Given the description of an element on the screen output the (x, y) to click on. 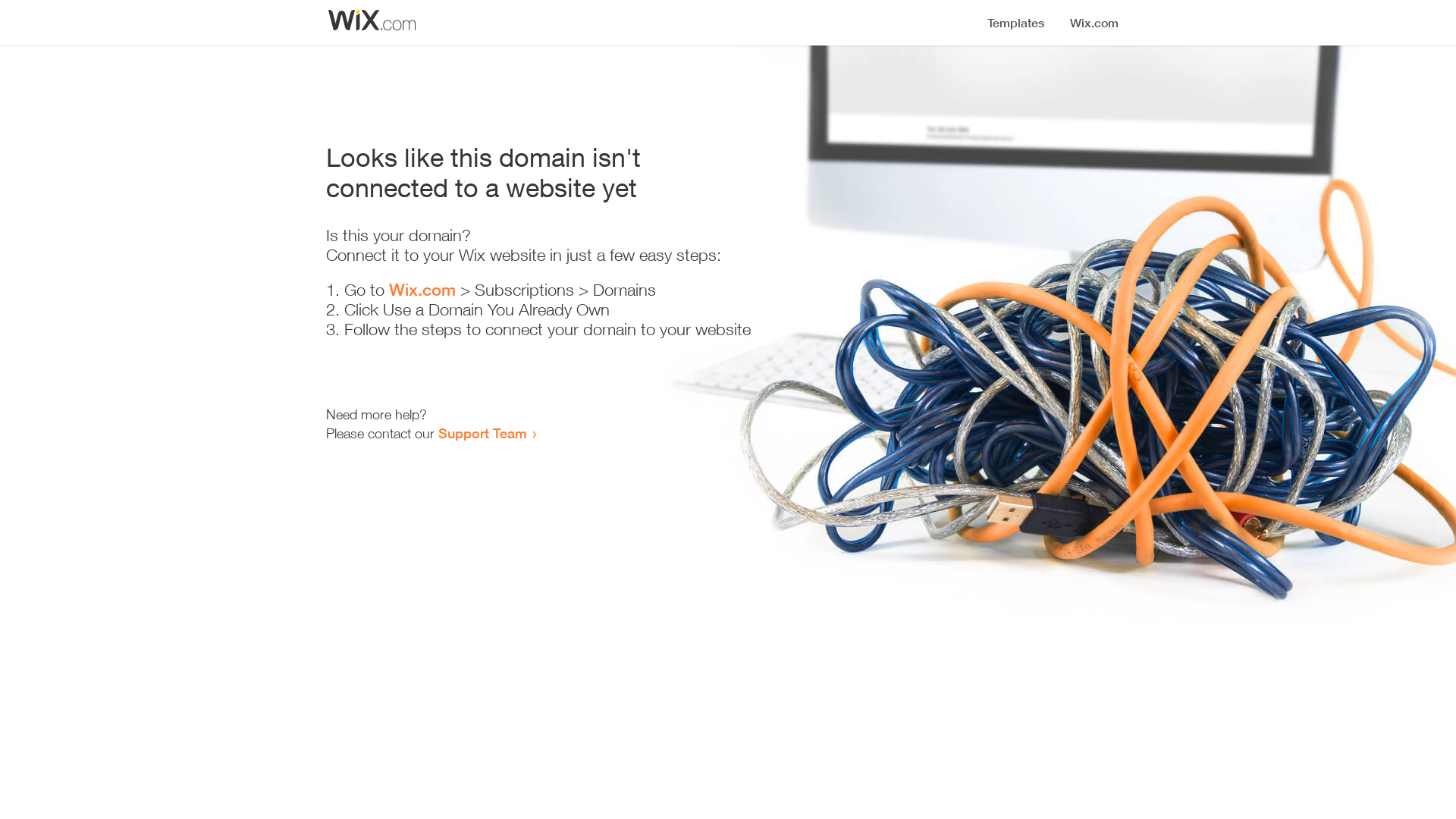
Support Team Element type: text (482, 432)
Wix.com Element type: text (422, 289)
